Given the description of an element on the screen output the (x, y) to click on. 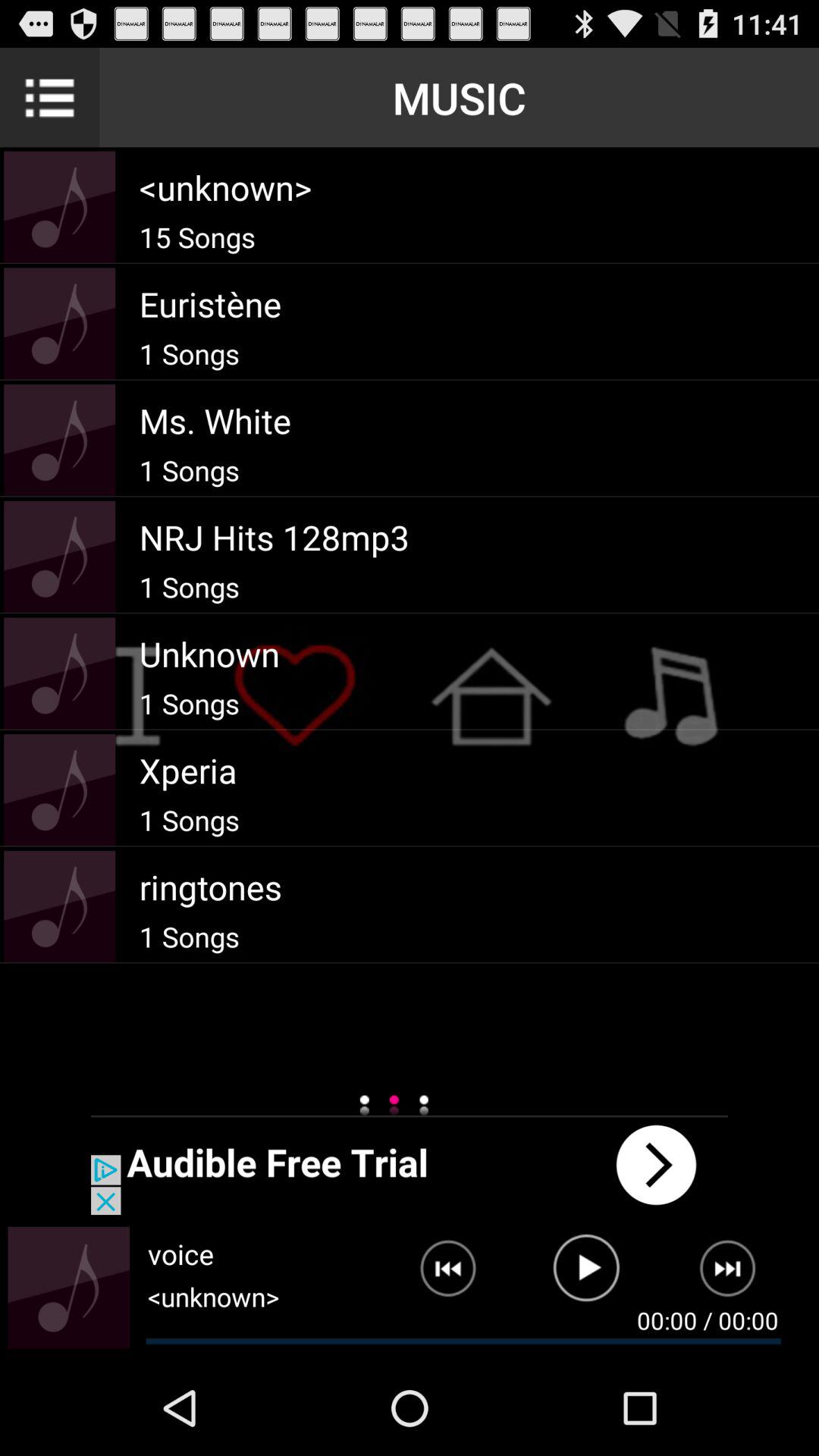
play song (586, 1274)
